Given the description of an element on the screen output the (x, y) to click on. 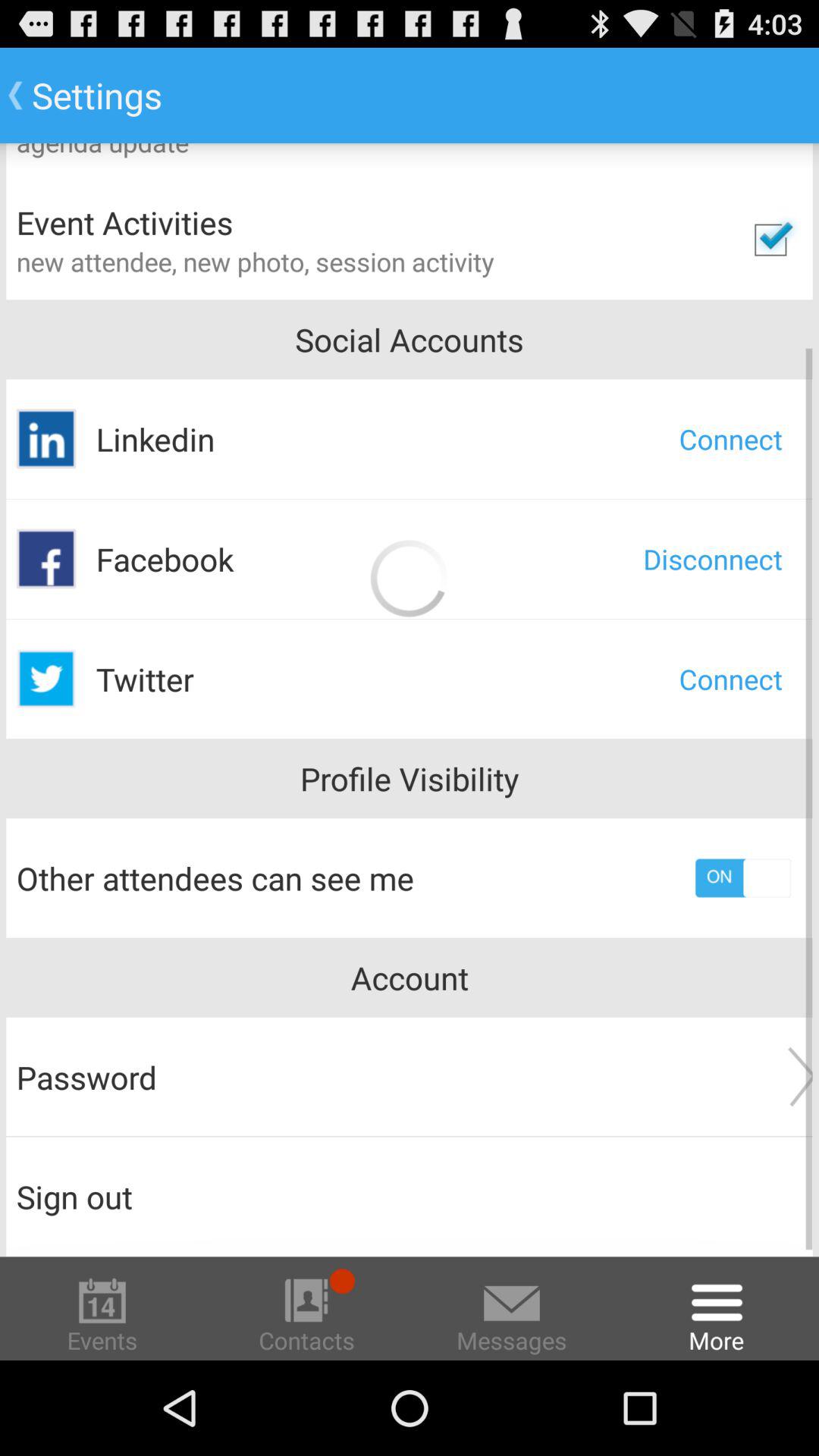
tick option (770, 239)
